Given the description of an element on the screen output the (x, y) to click on. 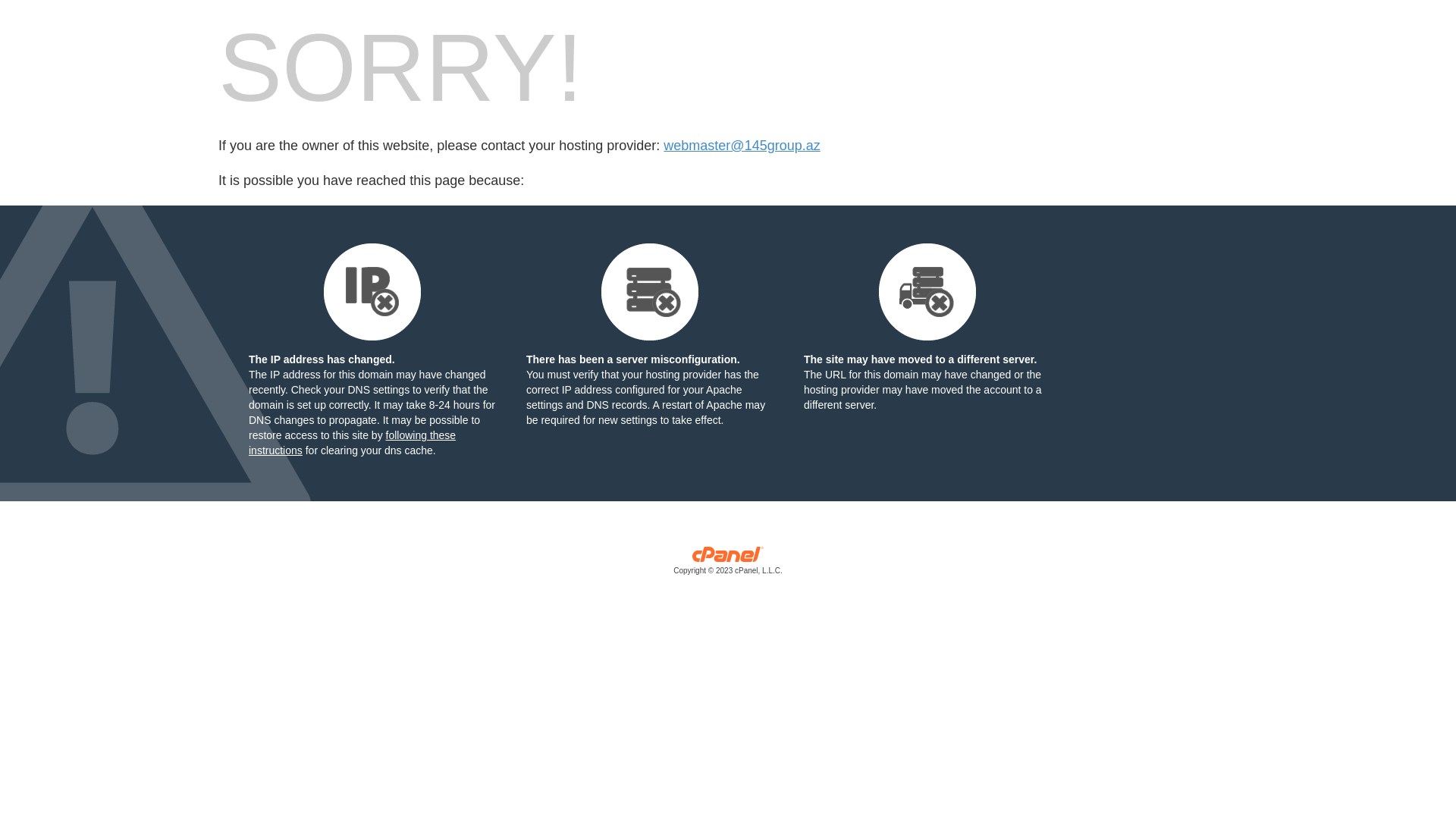
following these instructions Element type: text (351, 442)
webmaster@145group.az Element type: text (741, 145)
